Given the description of an element on the screen output the (x, y) to click on. 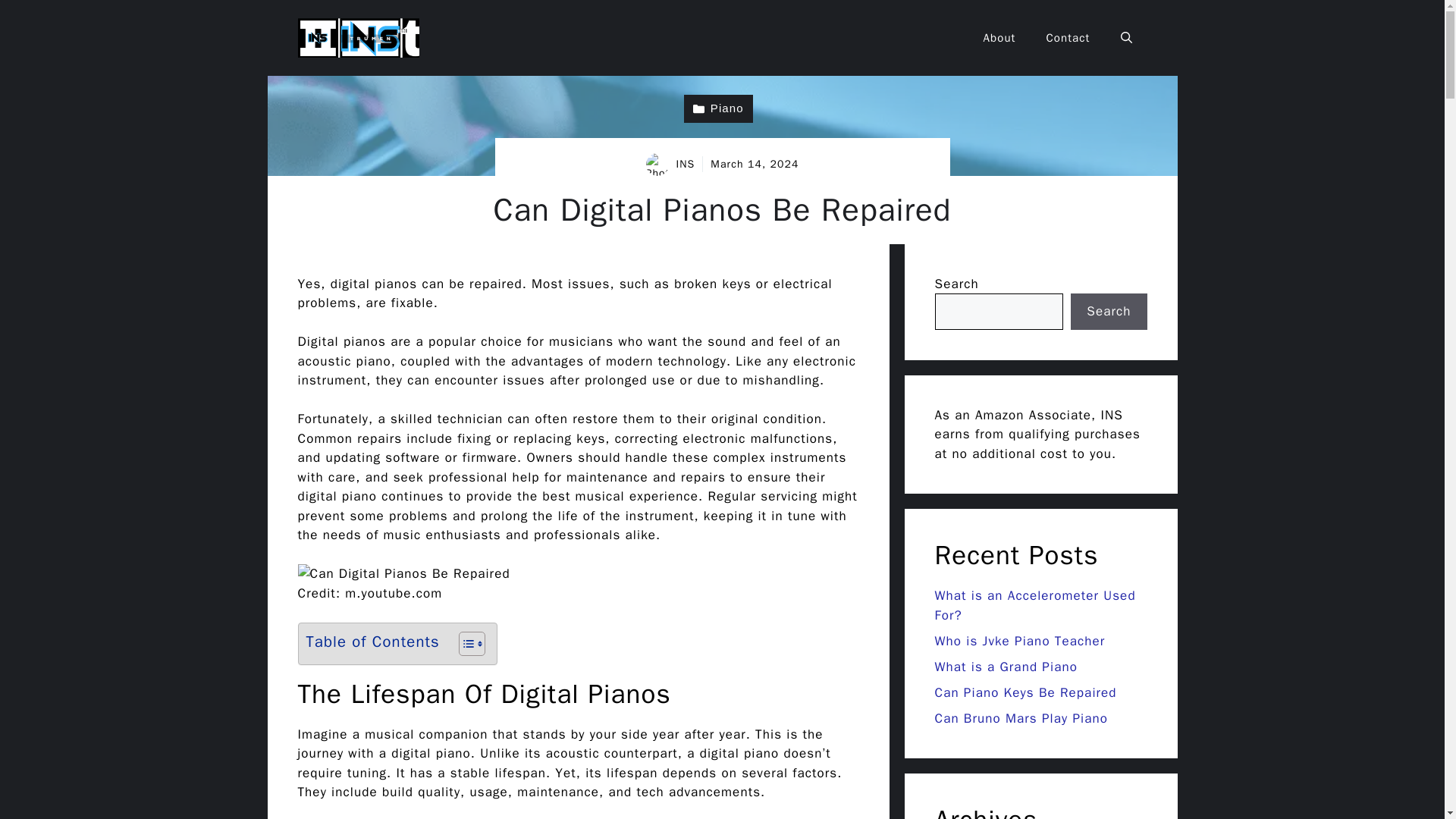
About (999, 37)
INS (686, 164)
Contact (1067, 37)
Piano (718, 108)
